Given the description of an element on the screen output the (x, y) to click on. 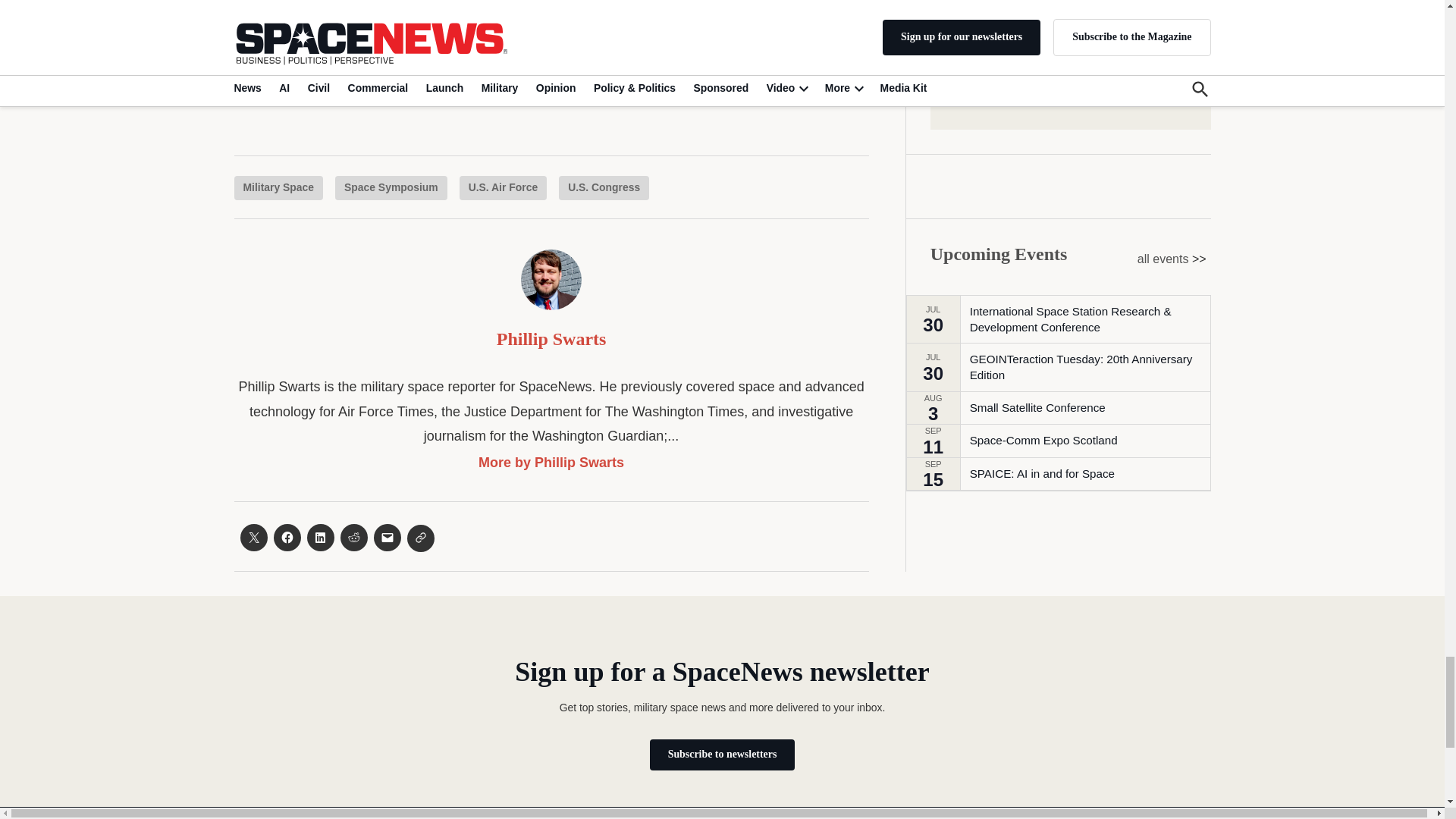
Click to share on Facebook (286, 537)
Click to share on X (253, 537)
